Given the description of an element on the screen output the (x, y) to click on. 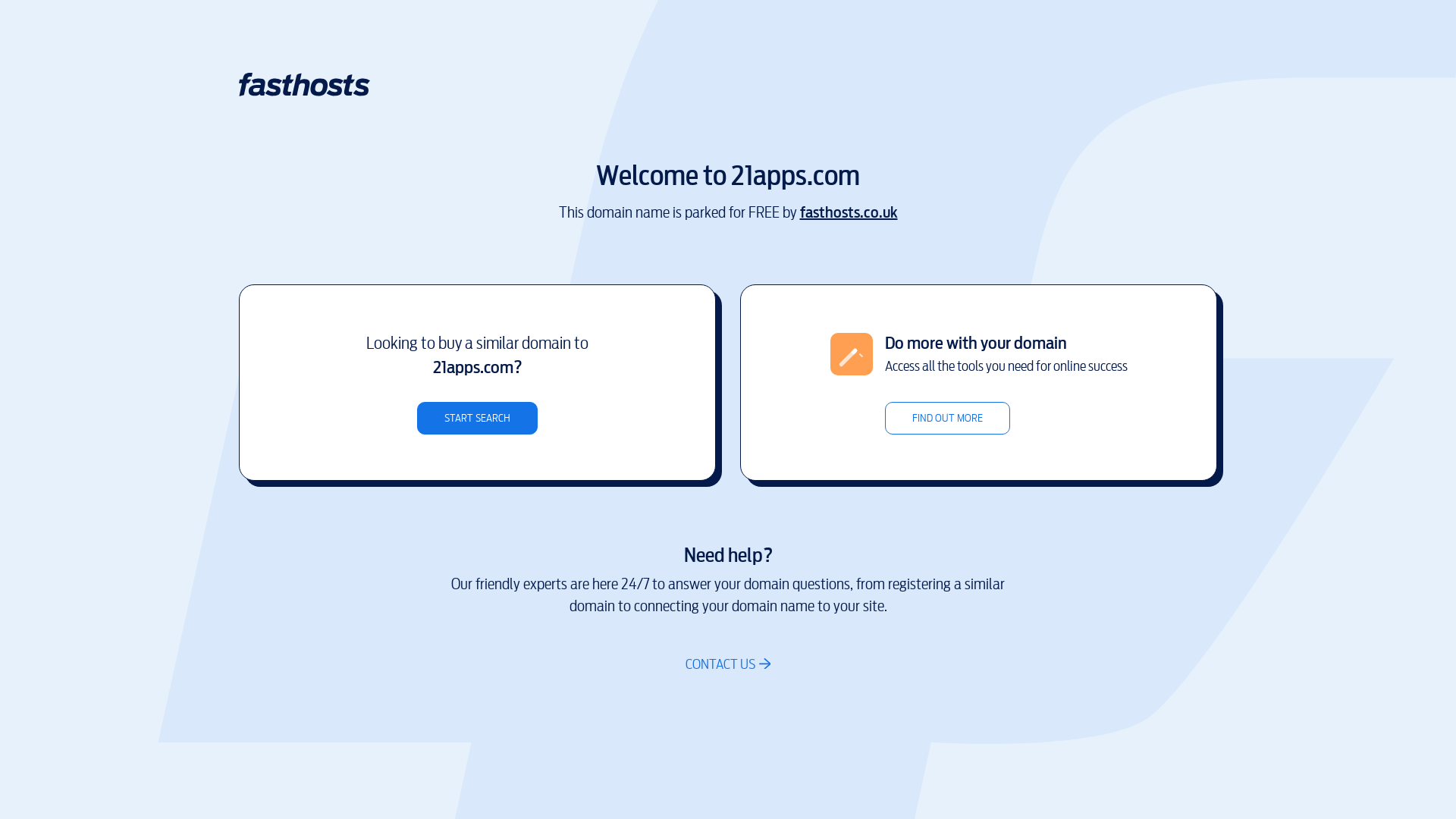
CONTACT US Element type: text (727, 663)
fasthosts.co.uk Element type: text (848, 212)
START SEARCH Element type: text (477, 417)
FIND OUT MORE Element type: text (946, 417)
